Given the description of an element on the screen output the (x, y) to click on. 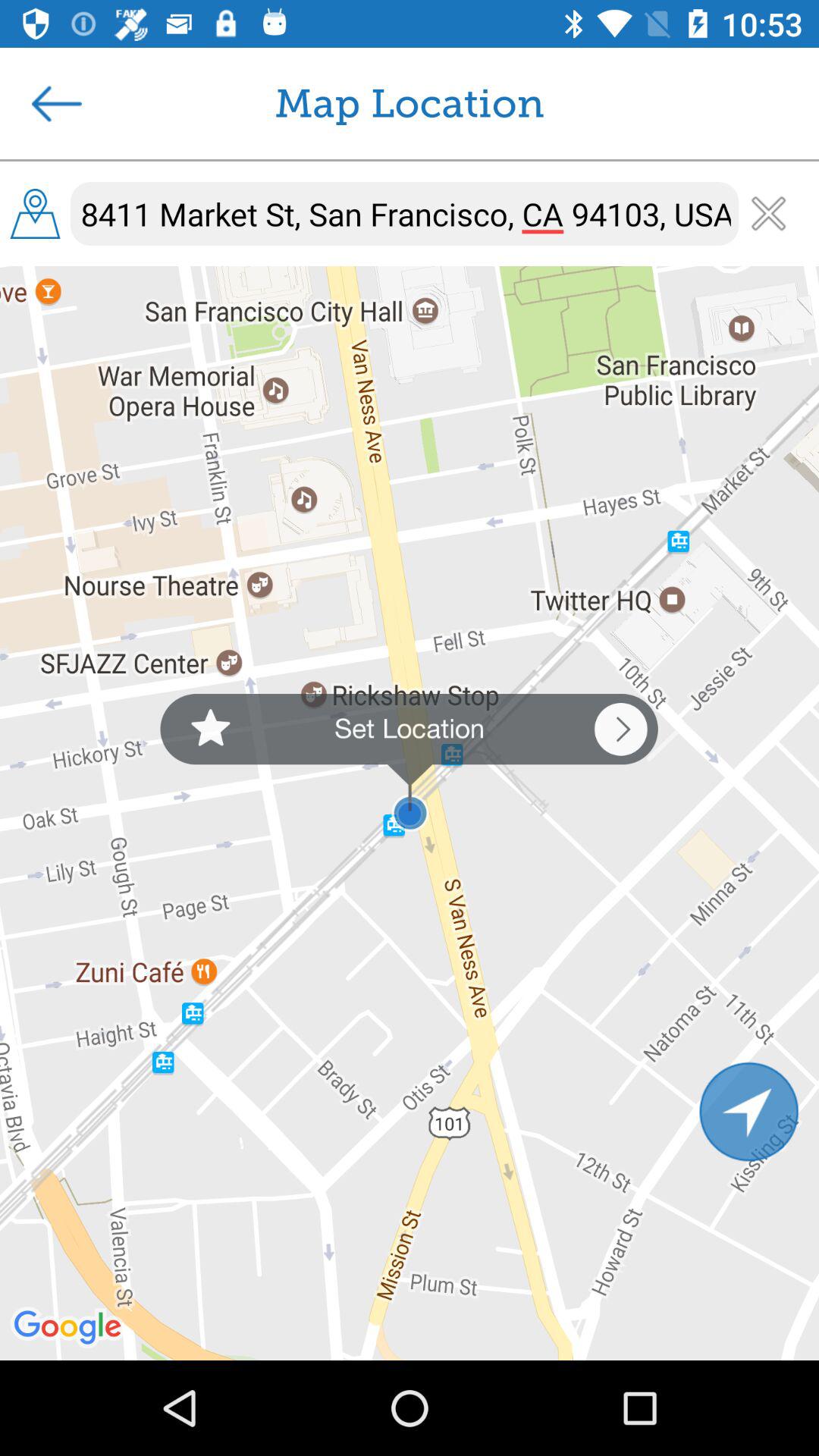
straighten map orientation (749, 1111)
